Given the description of an element on the screen output the (x, y) to click on. 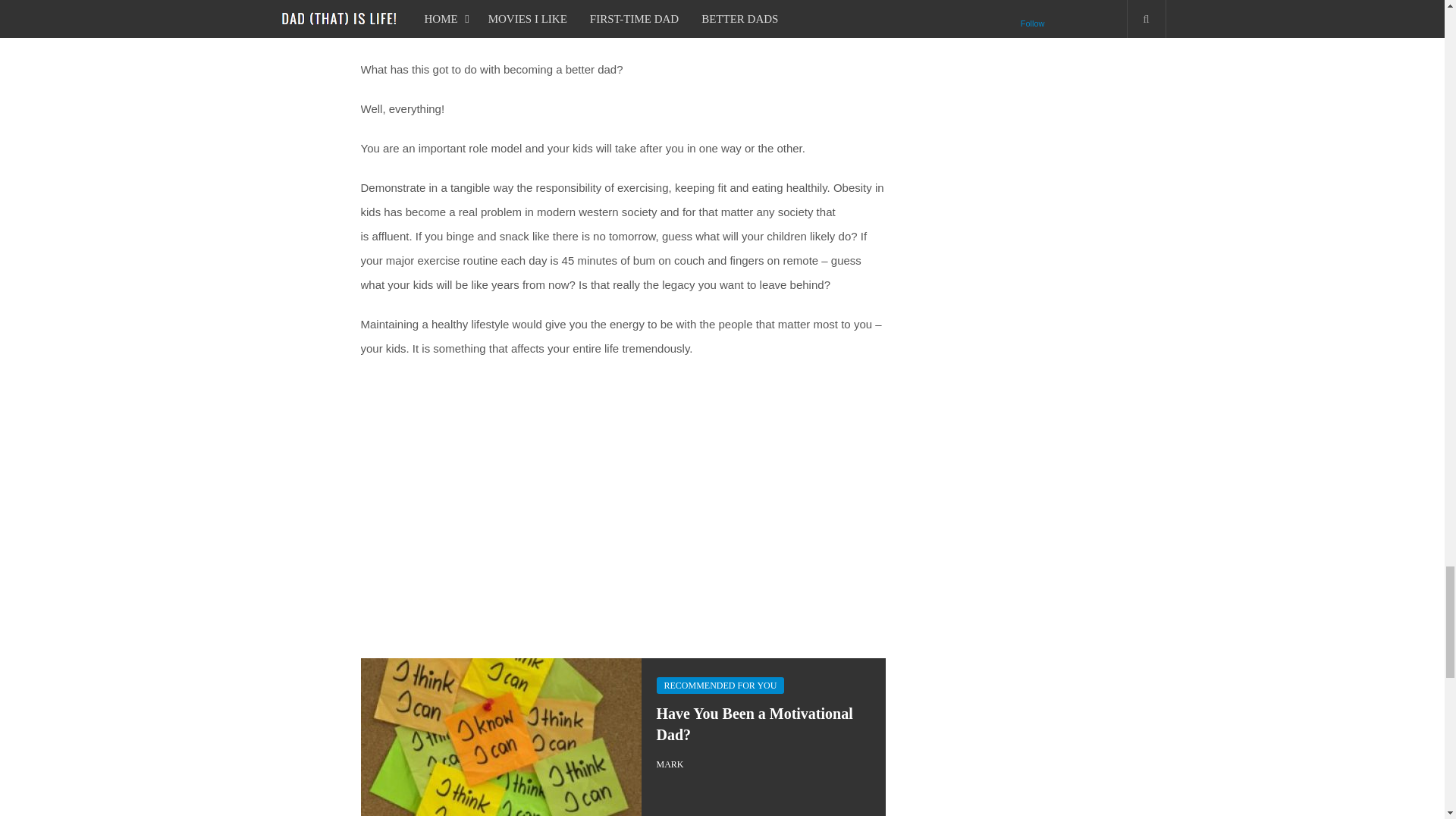
Have You Been a Motivational Dad? (754, 723)
Posts by Mark (670, 764)
MARK (670, 764)
Have You Been a Motivational Dad? (754, 723)
